Given the description of an element on the screen output the (x, y) to click on. 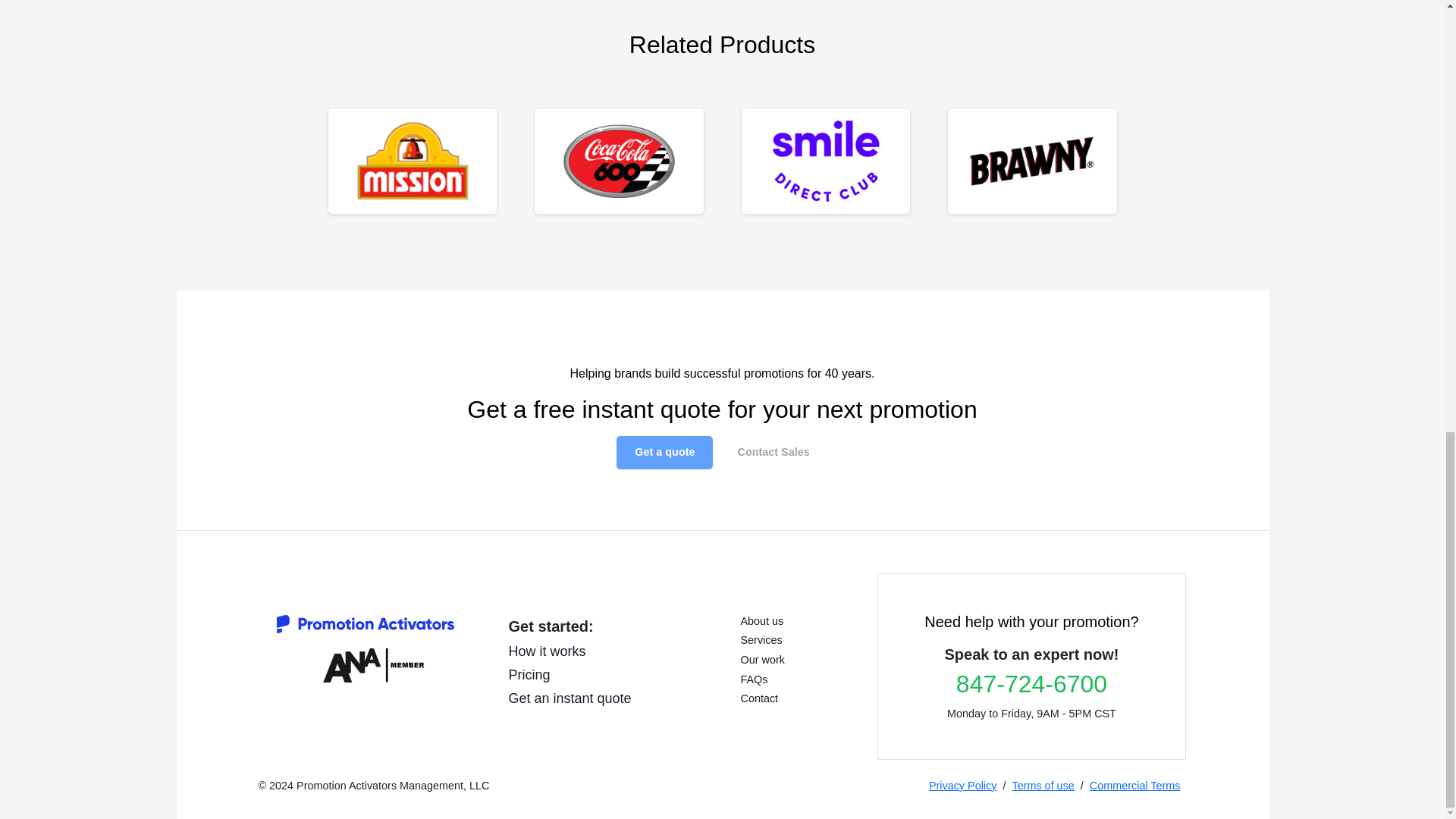
Contact Sales (773, 452)
Get a quote (664, 452)
